Given the description of an element on the screen output the (x, y) to click on. 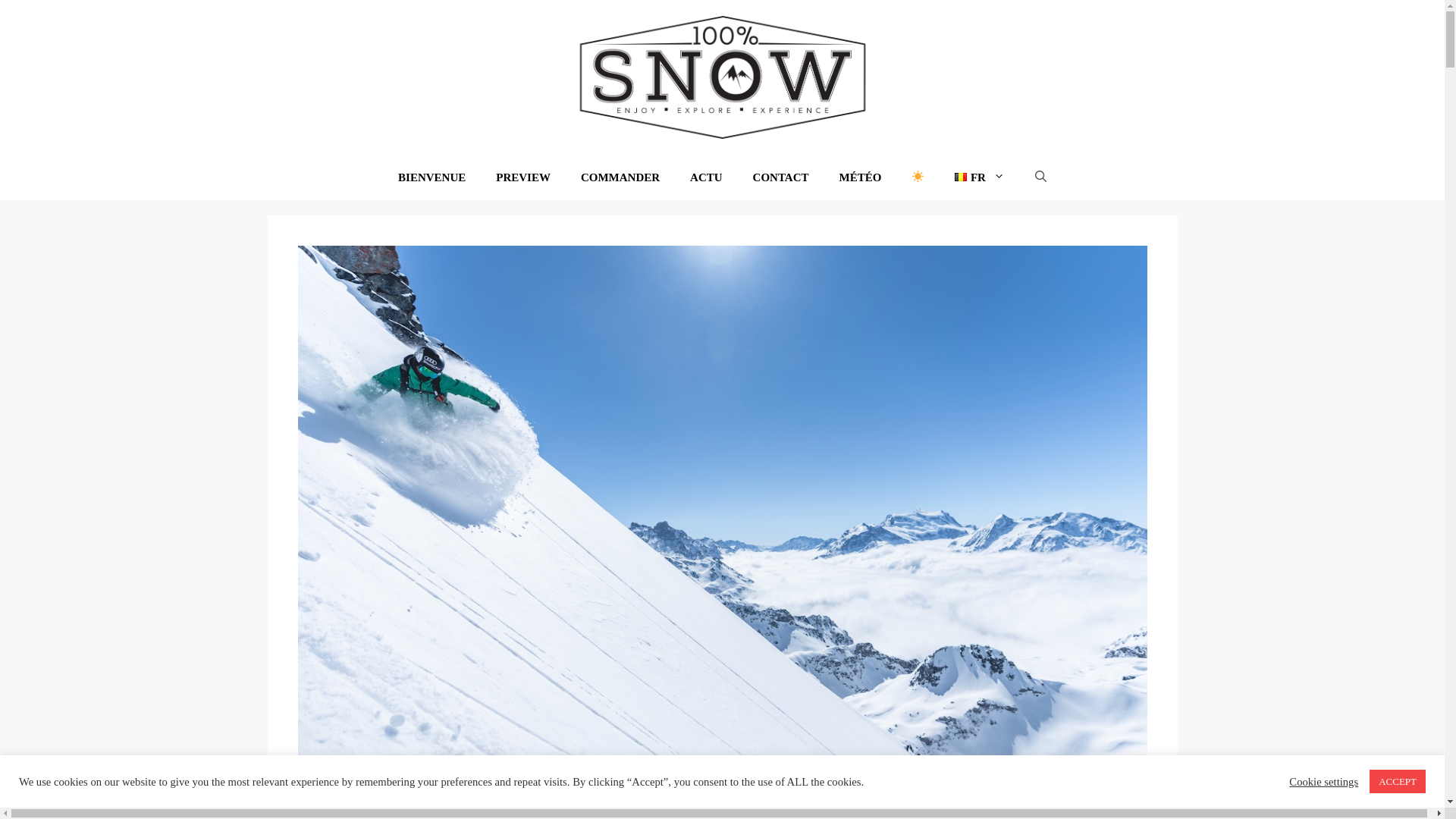
COMMANDER Element type: text (619, 177)
100% Snow Magazine Element type: hover (721, 76)
PREVIEW Element type: text (522, 177)
ACCEPT Element type: text (1397, 781)
Cookie settings Element type: text (1323, 781)
FR Element type: text (979, 177)
CONTACT Element type: text (780, 177)
ACTU Element type: text (705, 177)
100% Snow Magazine Element type: hover (721, 77)
BIENVENUE Element type: text (431, 177)
